Given the description of an element on the screen output the (x, y) to click on. 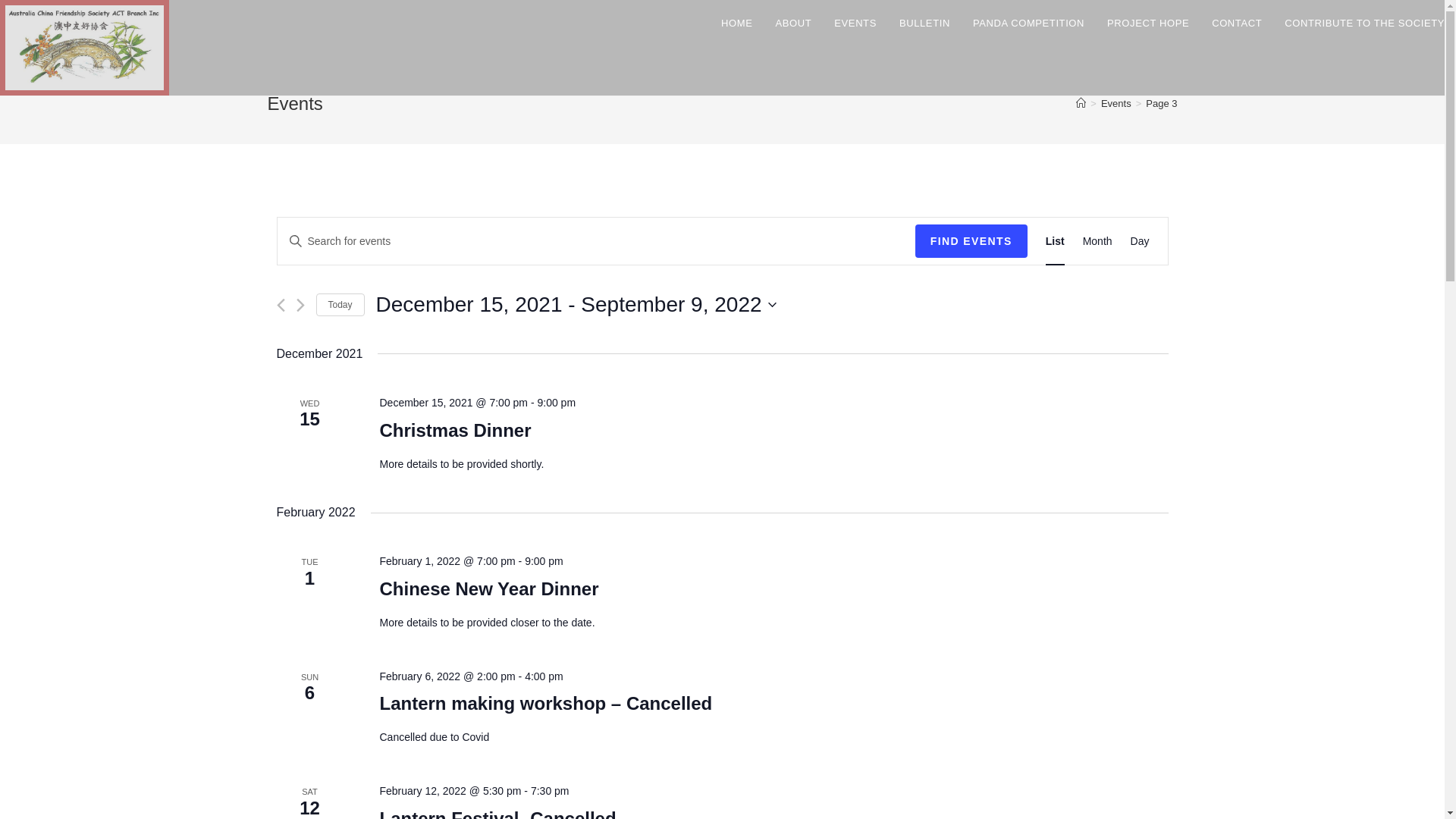
Month Element type: text (1097, 241)
List Element type: text (1054, 241)
Chinese New Year Dinner Element type: text (488, 588)
PANDA COMPETITION Element type: text (1028, 23)
CONTACT Element type: text (1236, 23)
Day Element type: text (1139, 241)
HOME Element type: text (736, 23)
December 15, 2021
 - 
September 9, 2022 Element type: text (576, 304)
Christmas Dinner Element type: text (454, 430)
Events Element type: text (1116, 103)
Page 3 Element type: text (1160, 103)
Today Element type: text (339, 304)
EVENTS Element type: text (855, 23)
Previous Events Element type: hover (280, 305)
FIND EVENTS Element type: text (971, 241)
BULLETIN Element type: text (924, 23)
PROJECT HOPE Element type: text (1147, 23)
ABOUT Element type: text (793, 23)
Next Events Element type: hover (299, 305)
